Given the description of an element on the screen output the (x, y) to click on. 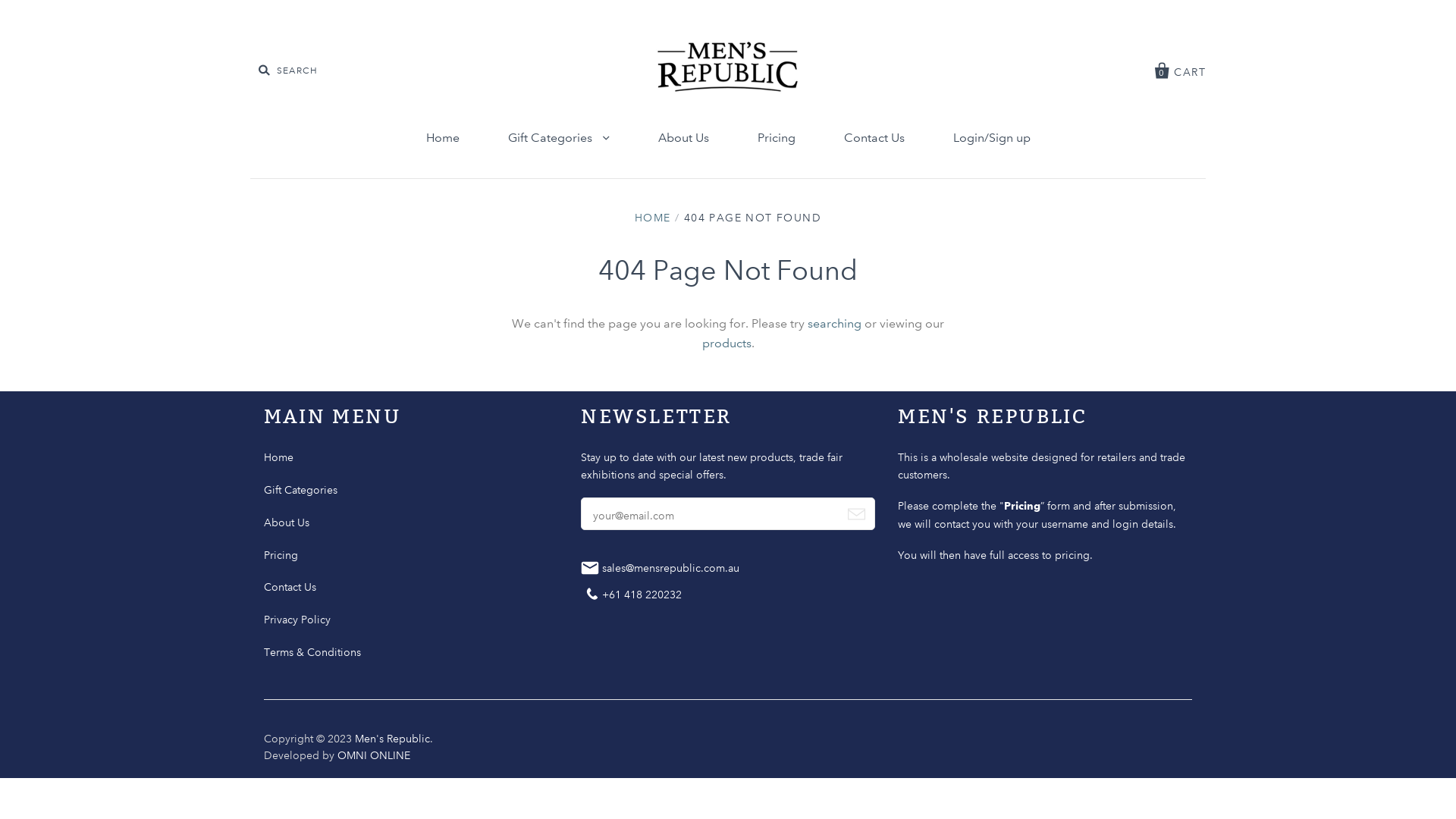
Gift Categories Element type: text (558, 137)
Pricing Element type: text (775, 137)
Gift Categories Element type: text (300, 489)
Contact Us Element type: text (289, 586)
Contact +61 418 220232 Element type: text (634, 594)
About Us Element type: text (286, 522)
Home Element type: text (442, 137)
Pricing Element type: text (1022, 505)
About Us Element type: text (683, 137)
Mail sales@mensrepublic.com.au Element type: text (663, 570)
OMNI ONLINE Element type: text (373, 755)
Login/Sign up Element type: text (990, 137)
0
CART Element type: text (1179, 68)
Terms & Conditions Element type: text (311, 651)
Men's Republic Element type: text (391, 737)
Privacy Policy Element type: text (296, 619)
Home Element type: text (278, 457)
products Element type: text (726, 342)
searching Element type: text (834, 323)
Pricing Element type: text (280, 554)
HOME Element type: text (652, 217)
Contact Us Element type: text (873, 137)
